Given the description of an element on the screen output the (x, y) to click on. 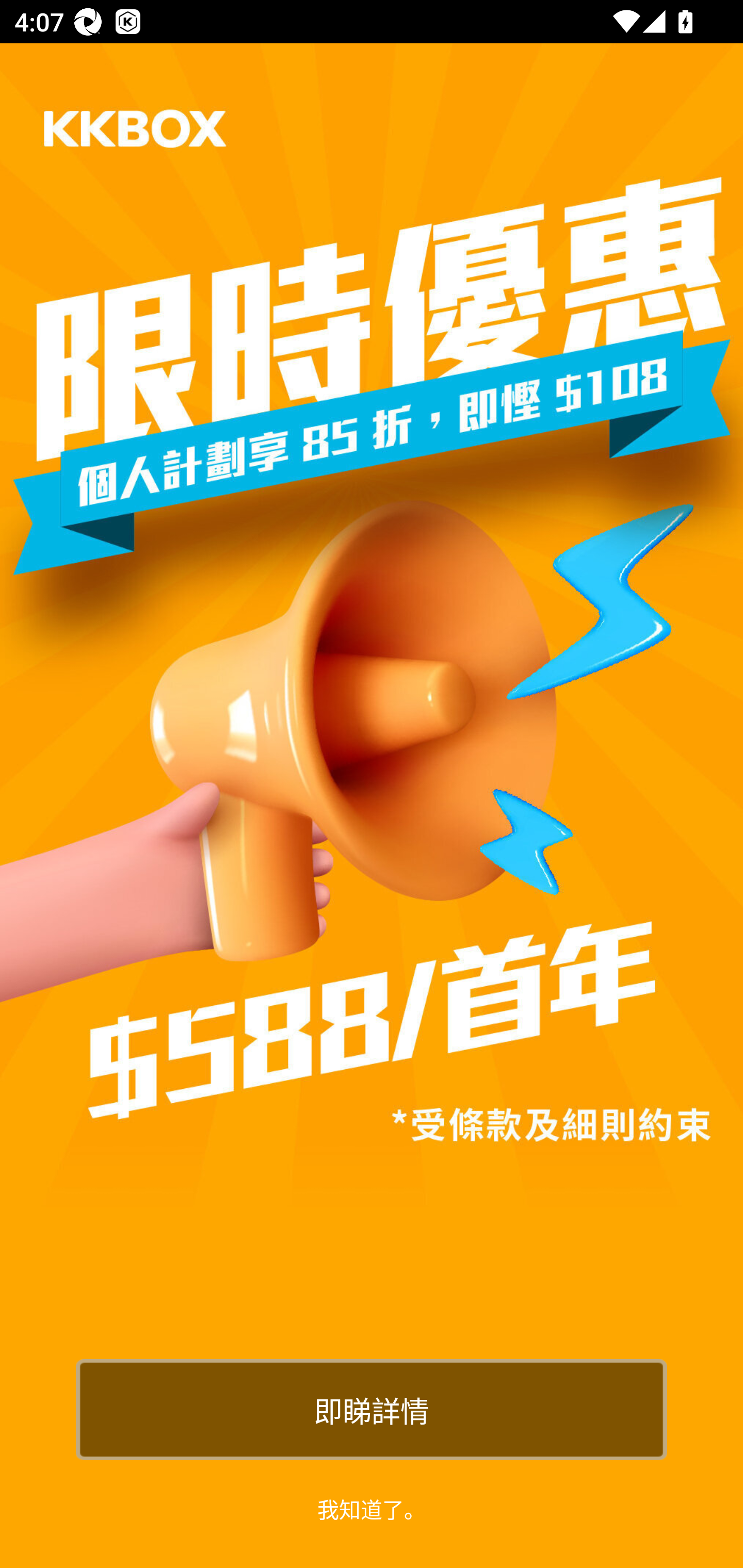
即睇詳情 (371, 1409)
我知道了。 (371, 1508)
